Given the description of an element on the screen output the (x, y) to click on. 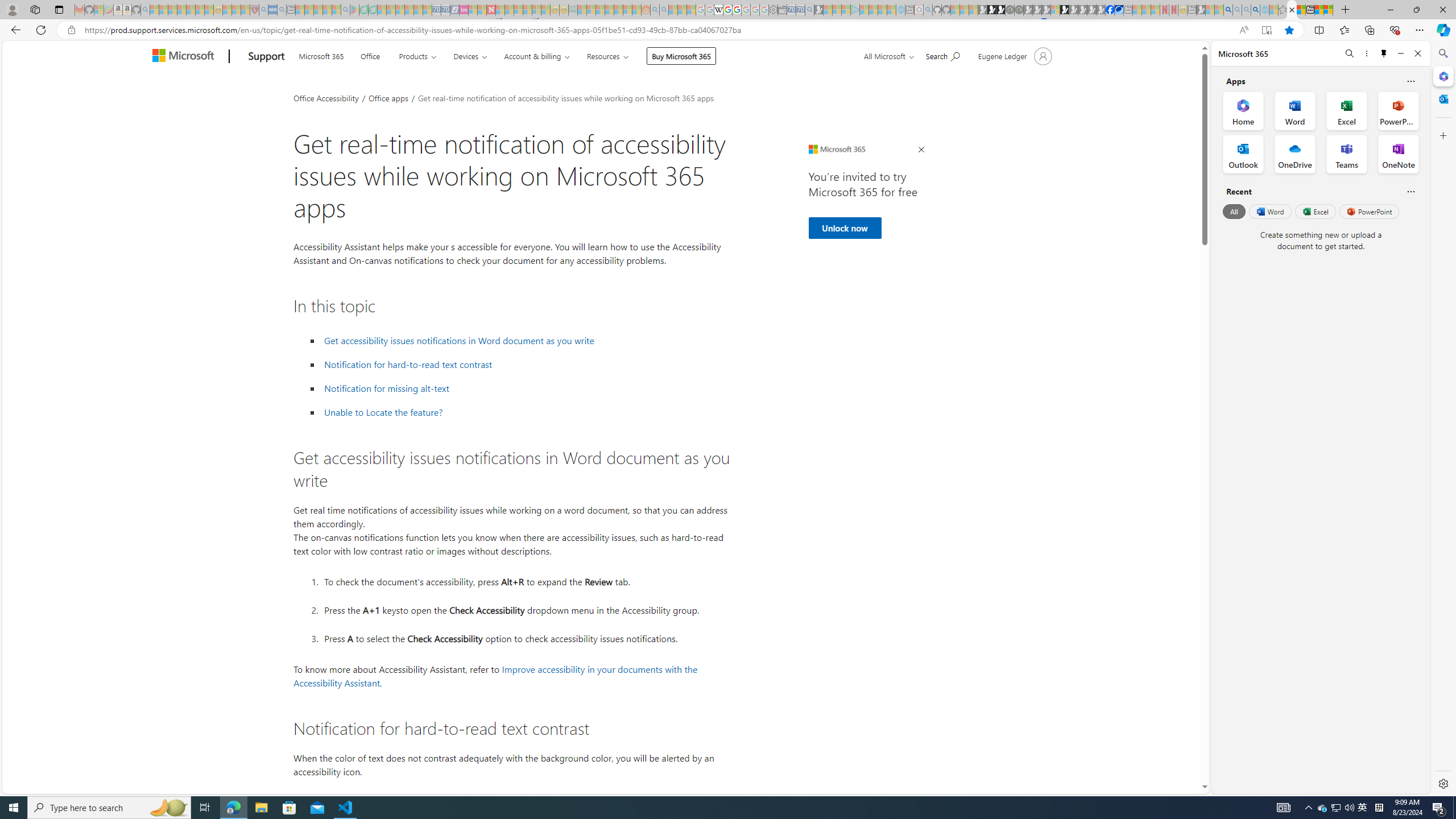
PowerPoint (1369, 210)
Close Ad (920, 149)
Notification for hard-to-read text contrast (525, 364)
Account manager for Eugene Ledger (1014, 55)
